Given the description of an element on the screen output the (x, y) to click on. 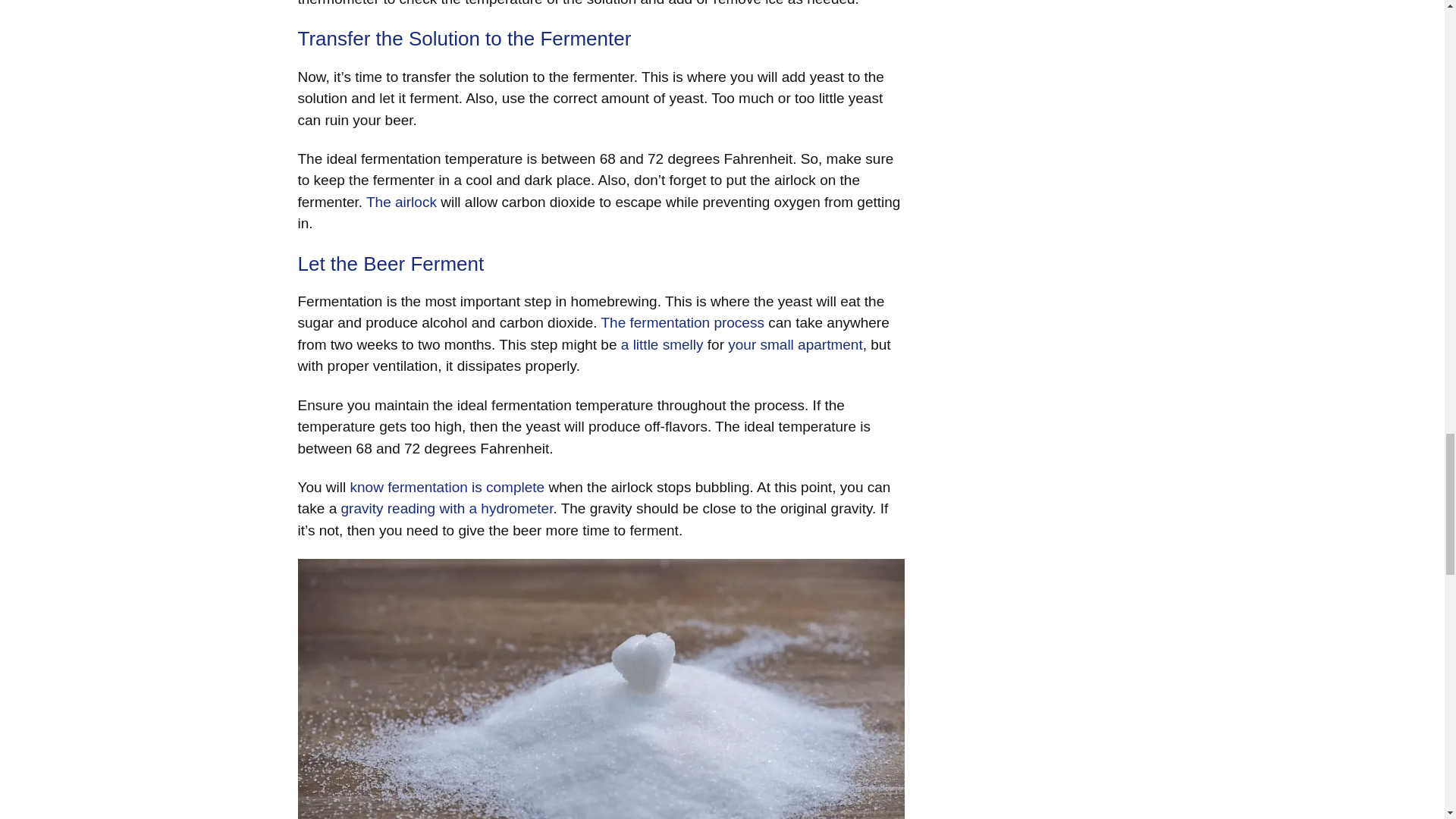
The fermentation process (680, 322)
a little smelly (662, 344)
The airlock (401, 201)
know fermentation is complete (447, 487)
your small apartment (794, 344)
gravity reading with a hydrometer (446, 508)
